Given the description of an element on the screen output the (x, y) to click on. 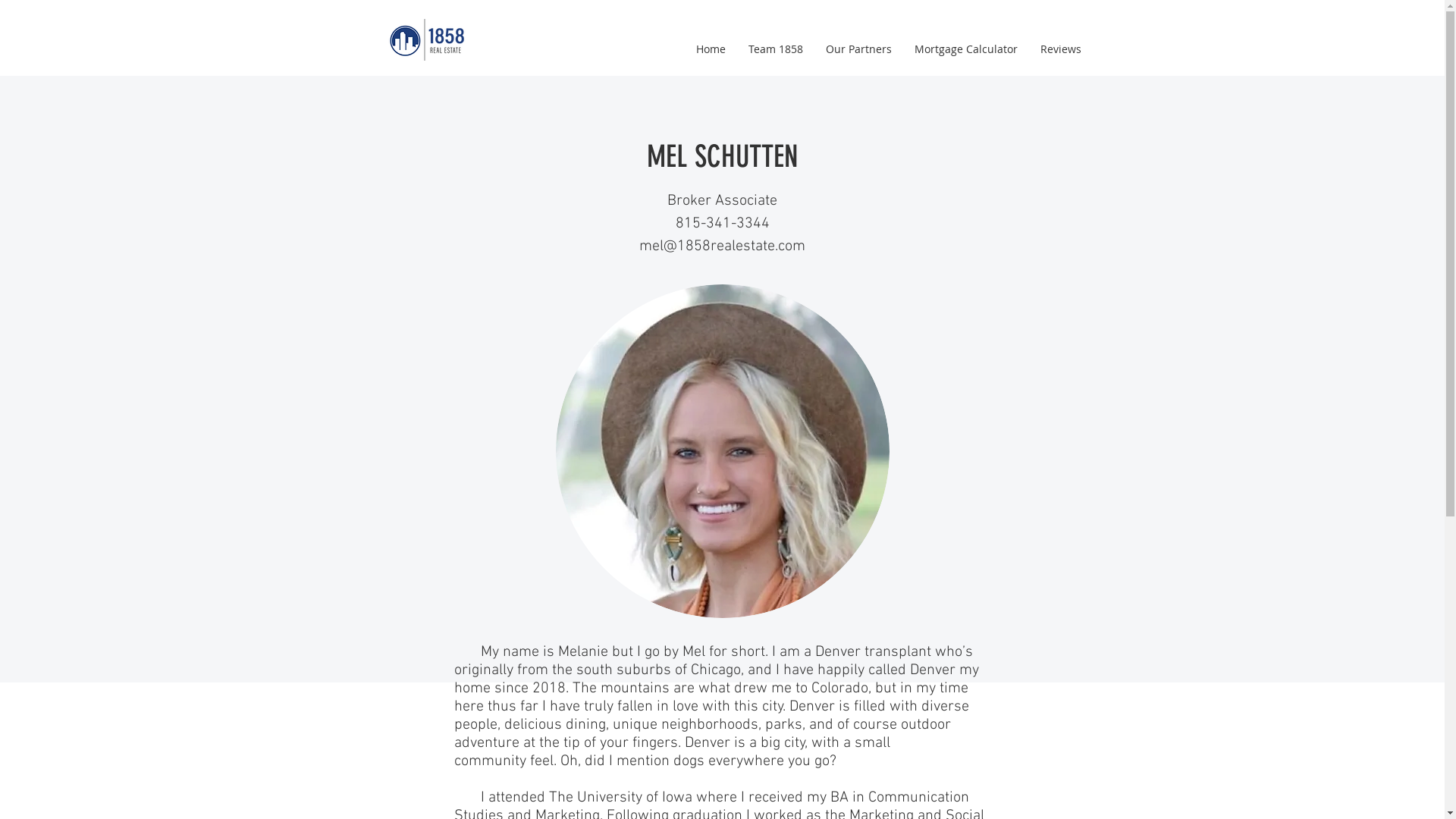
Our Partners Element type: text (858, 48)
mel@1858realestate.com Element type: text (722, 246)
Team 1858 Element type: text (775, 48)
Reviews Element type: text (1060, 48)
Home Element type: text (710, 48)
Mortgage Calculator Element type: text (965, 48)
